Given the description of an element on the screen output the (x, y) to click on. 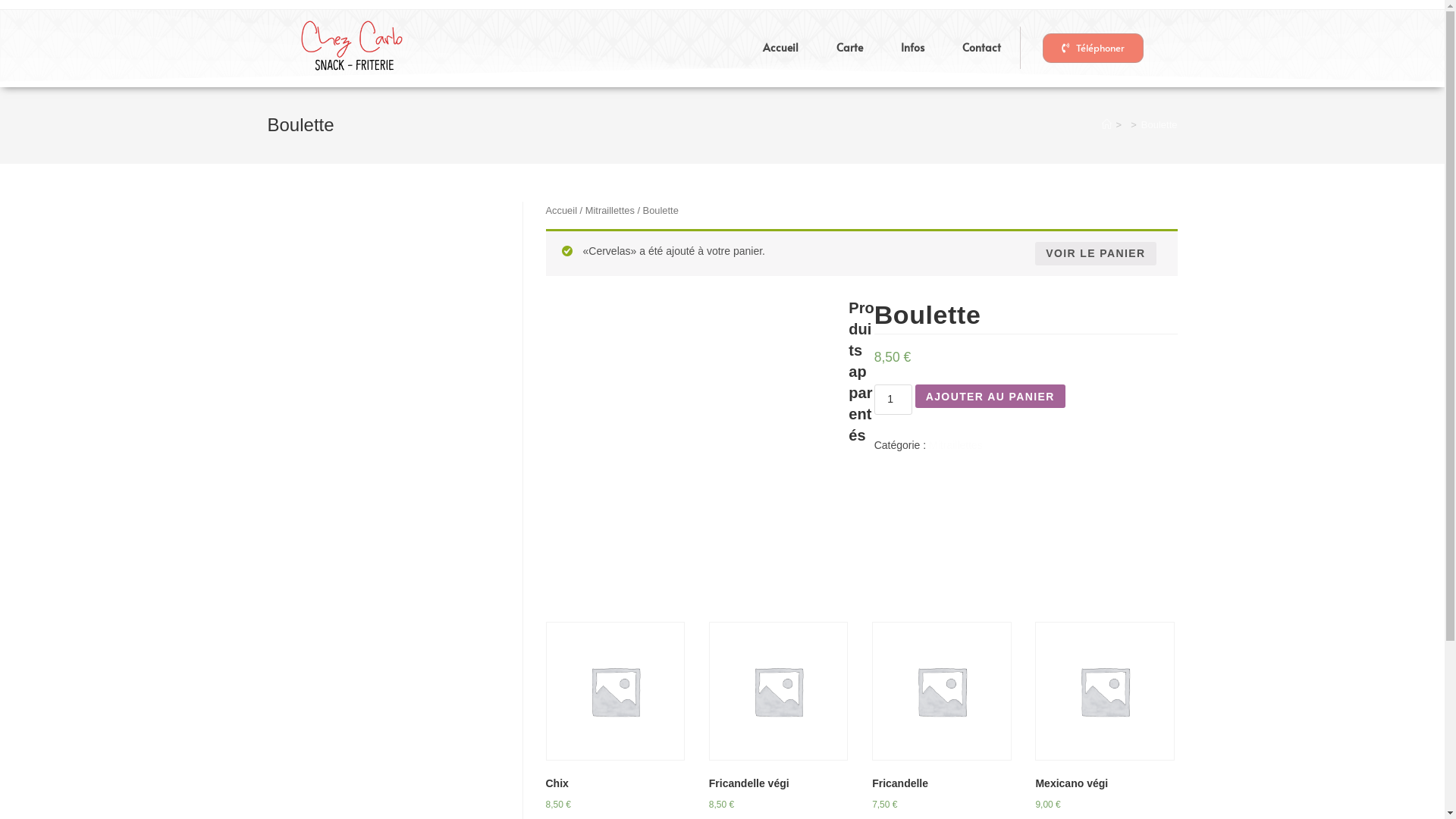
VOIR LE PANIER Element type: text (1095, 253)
Infos Element type: text (912, 47)
Boulette Element type: text (1159, 124)
AJOUTER AU PANIER Element type: text (990, 395)
Mitraillettes Element type: text (955, 445)
Accueil Element type: text (780, 47)
Carte Element type: text (849, 47)
Accueil Element type: text (561, 210)
Contact Element type: text (981, 47)
Mitraillettes Element type: text (609, 210)
